Given the description of an element on the screen output the (x, y) to click on. 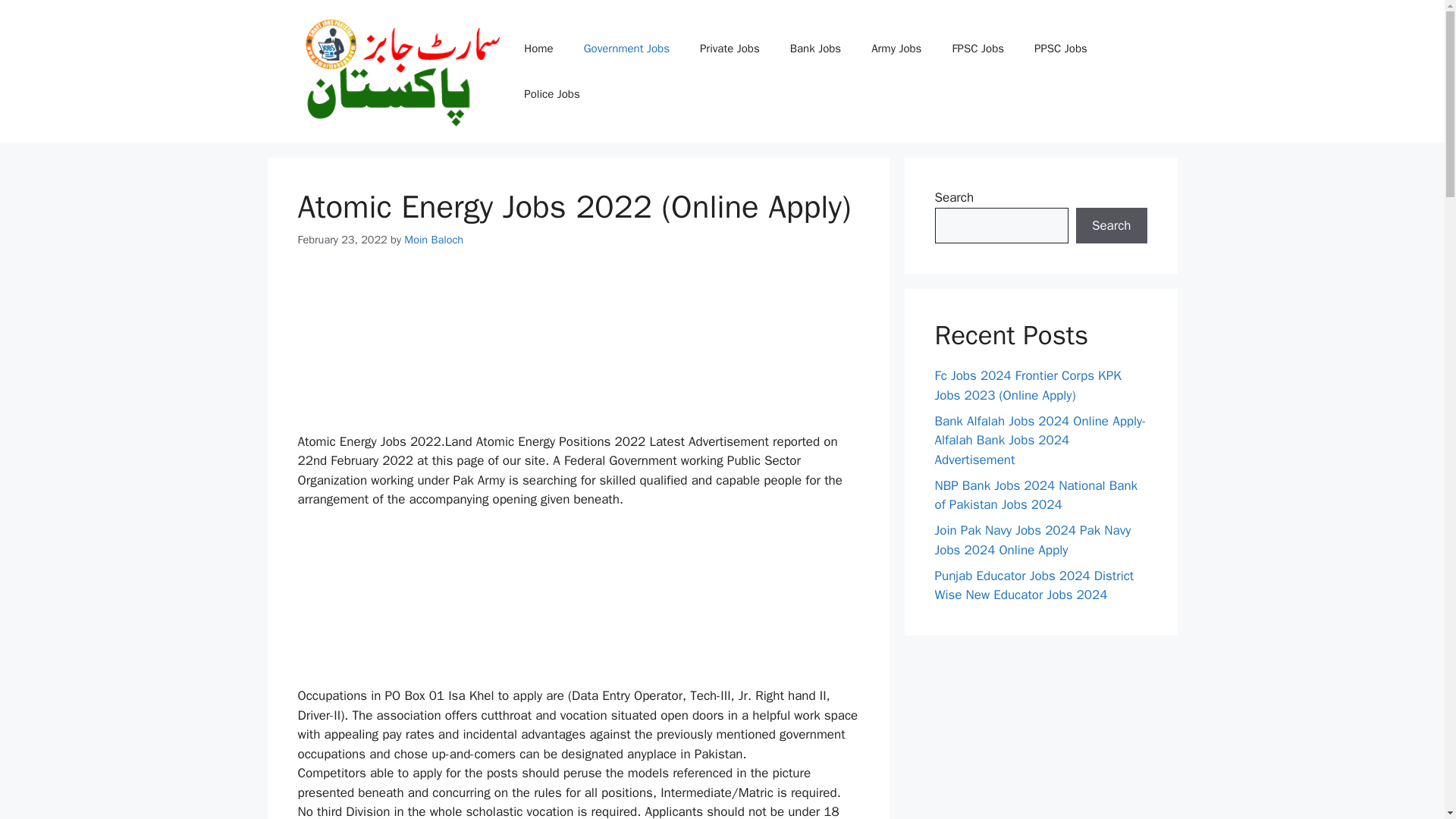
Army Jobs (896, 48)
Search (1111, 226)
Home (537, 48)
NBP Bank Jobs 2024 National Bank of Pakistan Jobs 2024 (1035, 495)
Private Jobs (729, 48)
Bank Jobs (815, 48)
FPSC Jobs (977, 48)
Police Jobs (551, 94)
PPSC Jobs (1060, 48)
View all posts by Moin Baloch (433, 239)
Join Pak Navy Jobs 2024 Pak Navy Jobs 2024 Online Apply (1032, 539)
Moin Baloch (433, 239)
Government Jobs (626, 48)
